Given the description of an element on the screen output the (x, y) to click on. 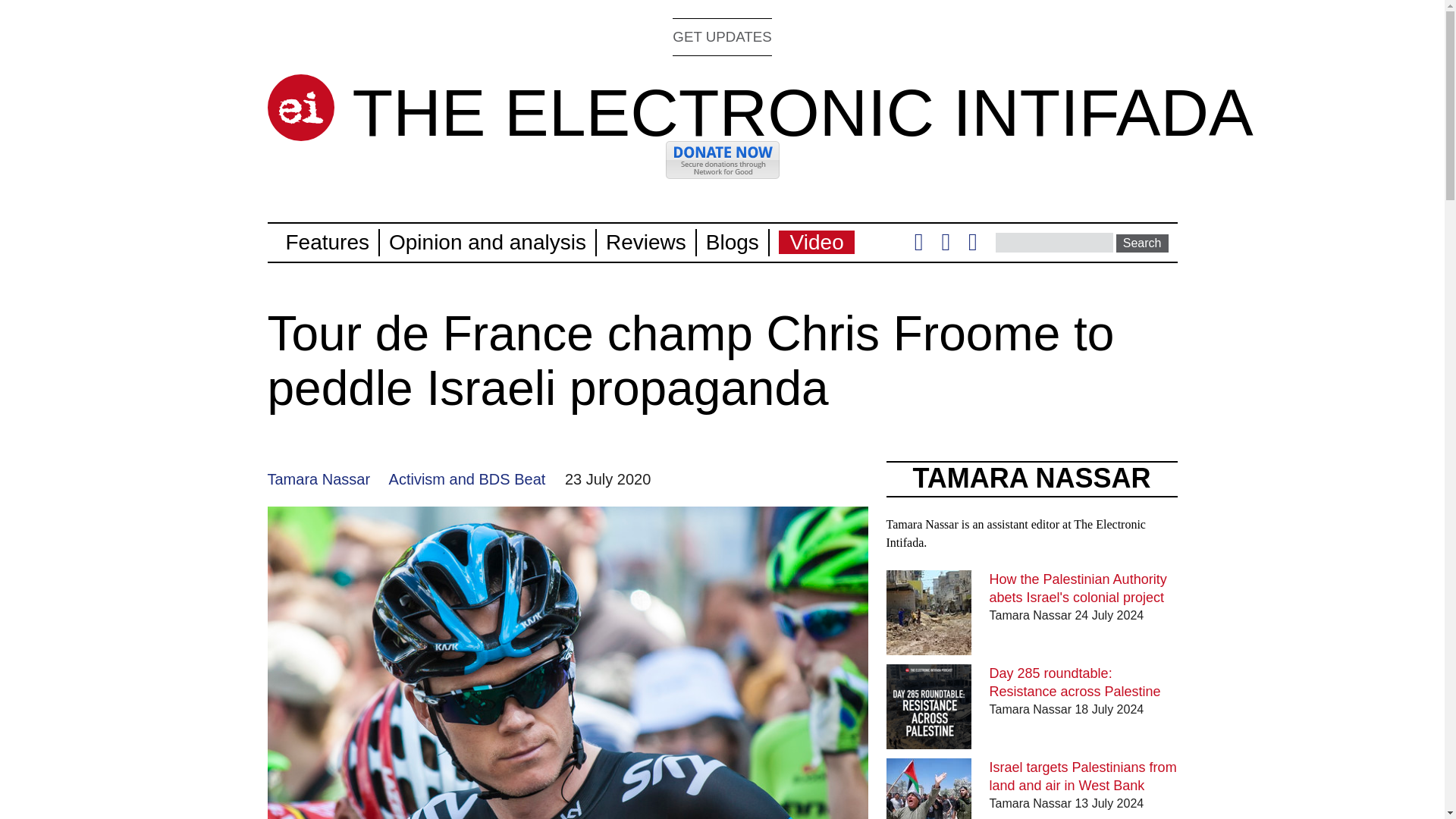
Home (802, 112)
Search (1142, 243)
Activism and BDS Beat (467, 478)
Enter the terms you wish to search for. (1054, 242)
Tamara Nassar (317, 478)
Home (299, 107)
THE ELECTRONIC INTIFADA (802, 112)
GET UPDATES (721, 37)
